Given the description of an element on the screen output the (x, y) to click on. 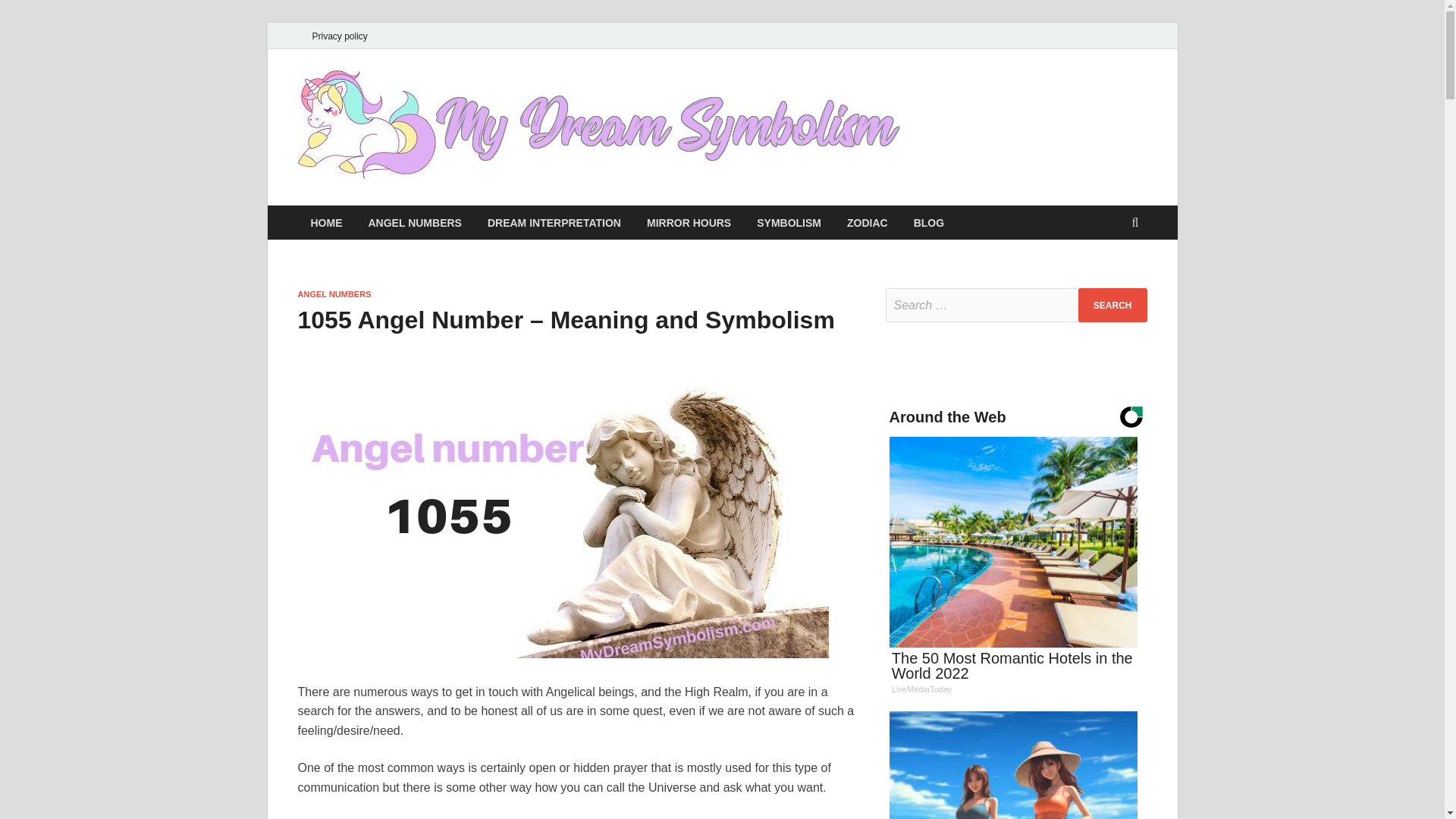
Search (1112, 305)
HOME (326, 222)
ZODIAC (867, 222)
ANGEL NUMBERS (414, 222)
BLOG (928, 222)
SYMBOLISM (789, 222)
Search (1112, 305)
DREAM INTERPRETATION (553, 222)
Privacy policy (339, 35)
ANGEL NUMBERS (334, 293)
MIRROR HOURS (688, 222)
My Dream Symbolism (988, 118)
